Given the description of an element on the screen output the (x, y) to click on. 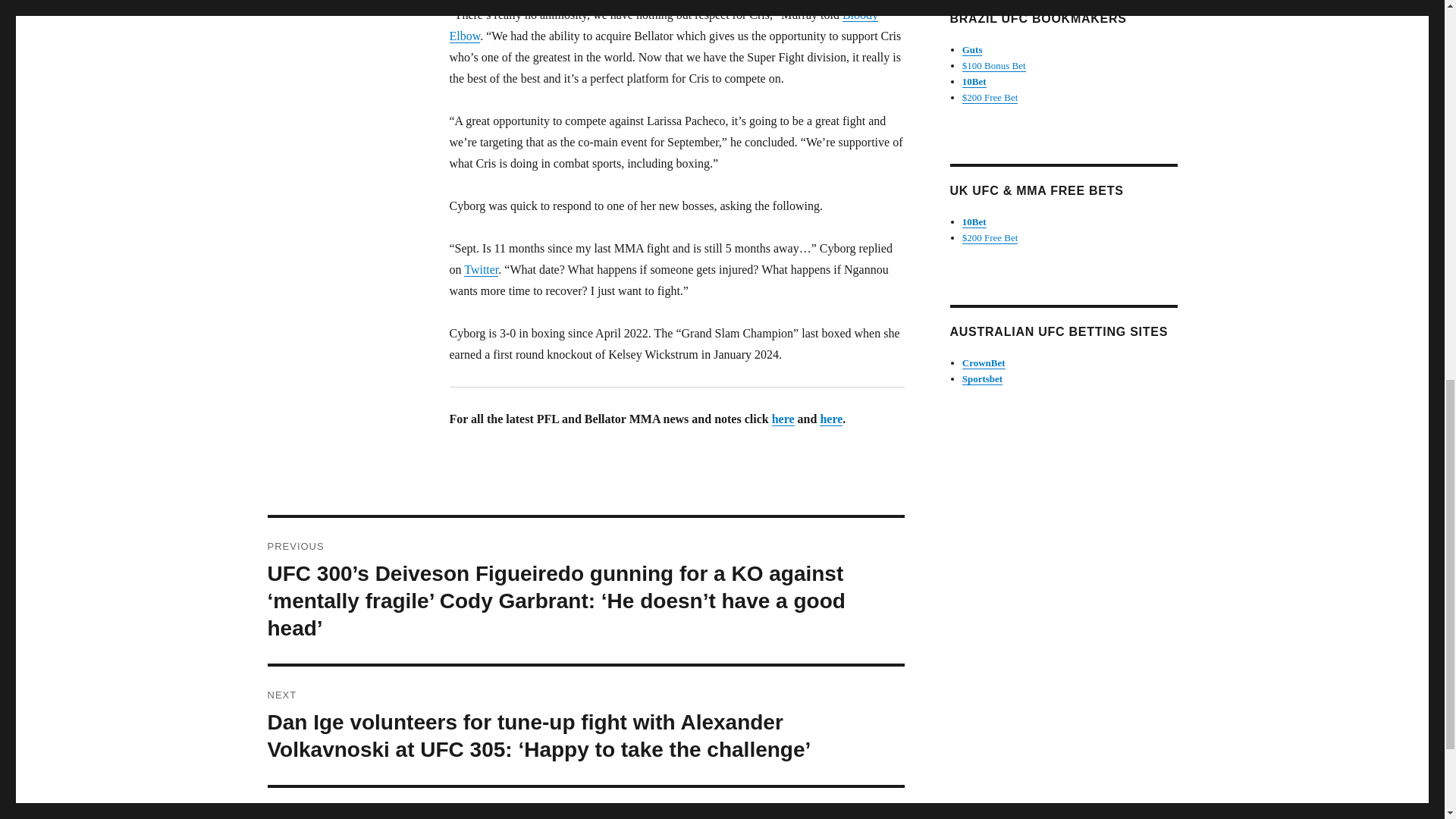
here (782, 418)
Bloody Elbow (662, 25)
Guts (972, 49)
Sportsbet (982, 378)
Twitter (480, 269)
here (831, 418)
CrownBet (984, 362)
10Bet (974, 81)
10Bet (974, 221)
